Given the description of an element on the screen output the (x, y) to click on. 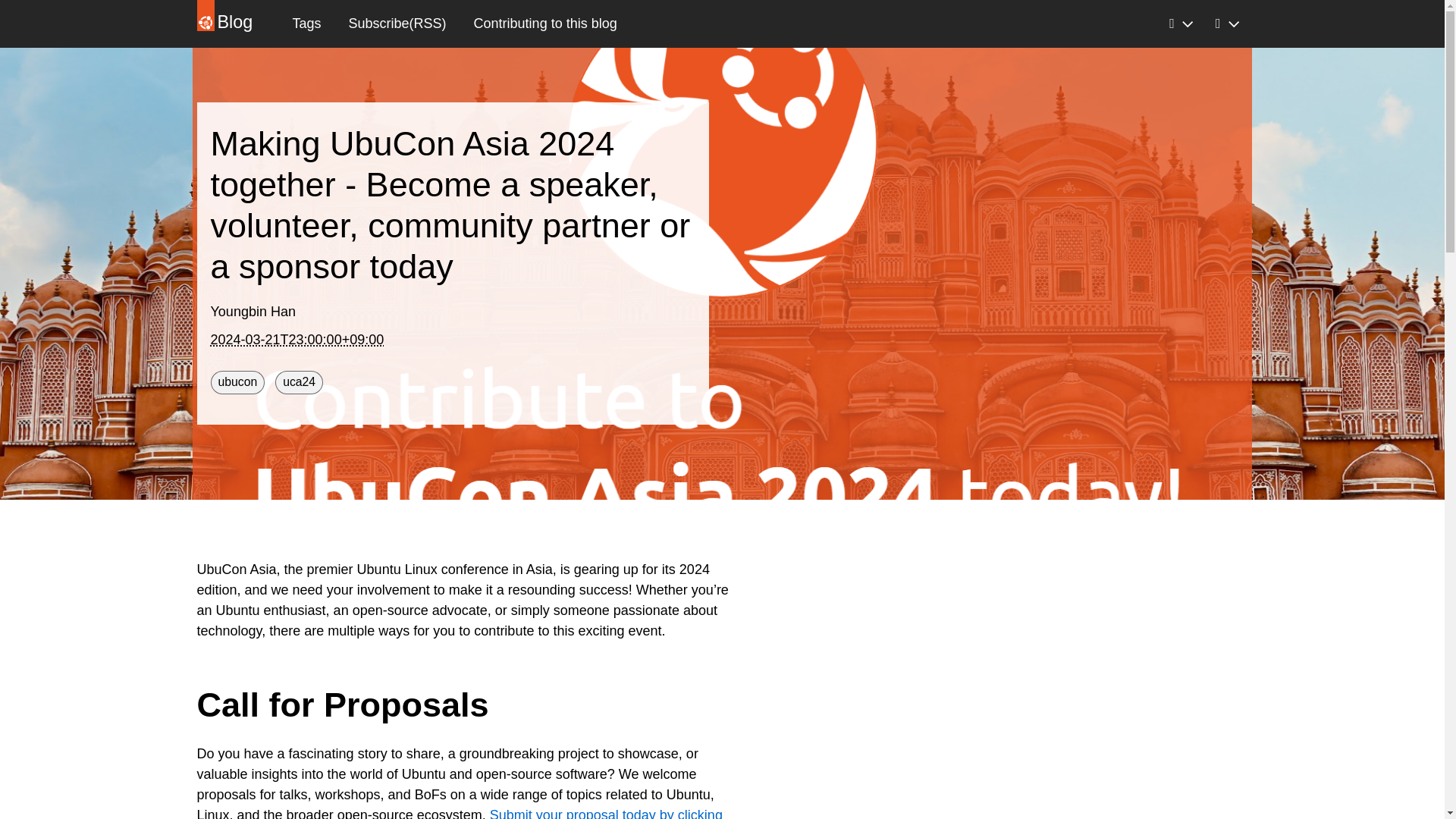
ubucon (243, 376)
Contributing to this blog (545, 23)
Submit your proposal today by clicking here! (459, 813)
Tags (306, 23)
Blog (237, 23)
uca24 (302, 376)
